Given the description of an element on the screen output the (x, y) to click on. 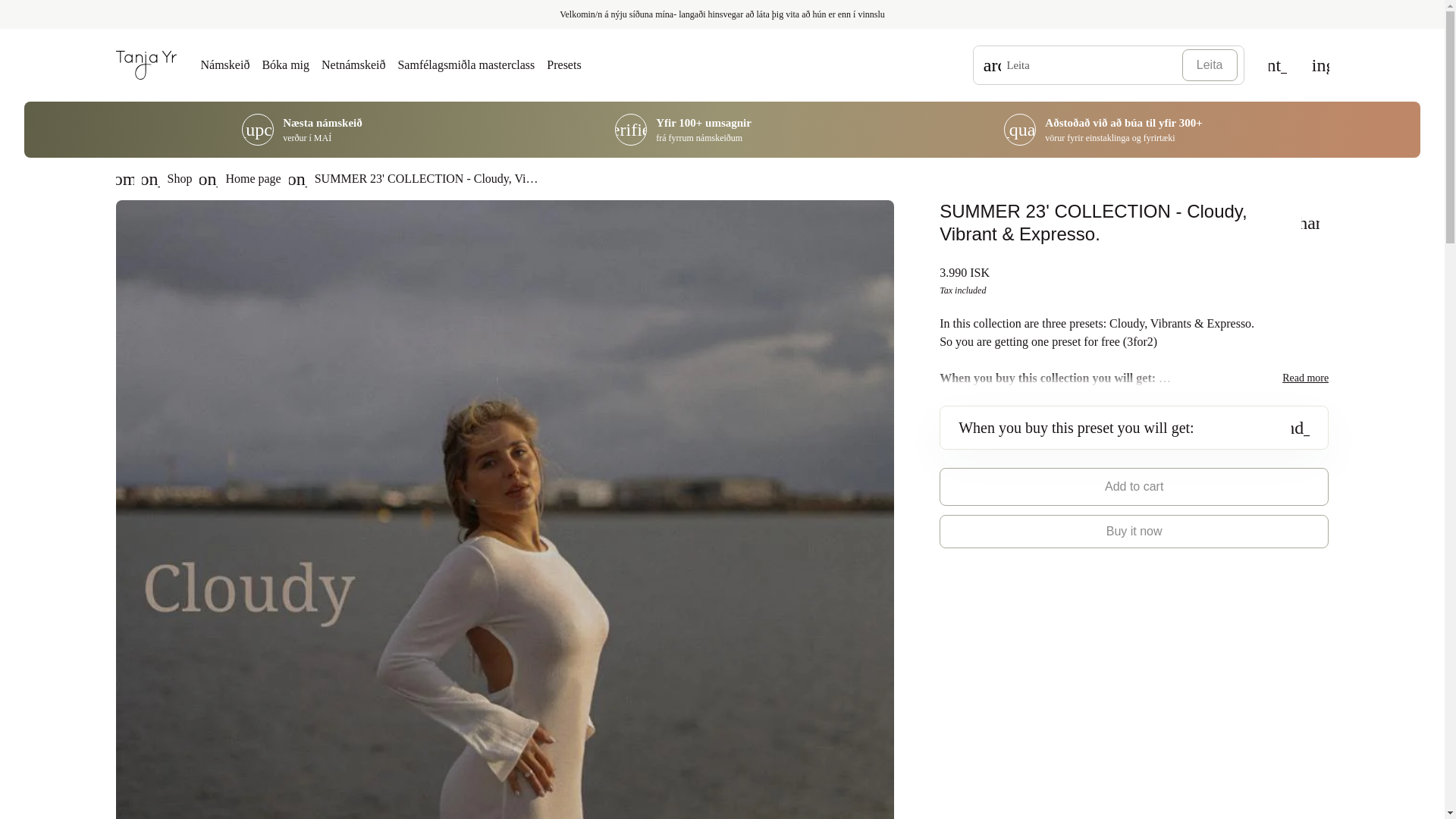
home (124, 178)
Home (145, 64)
Home (124, 178)
Leita (1209, 65)
